Given the description of an element on the screen output the (x, y) to click on. 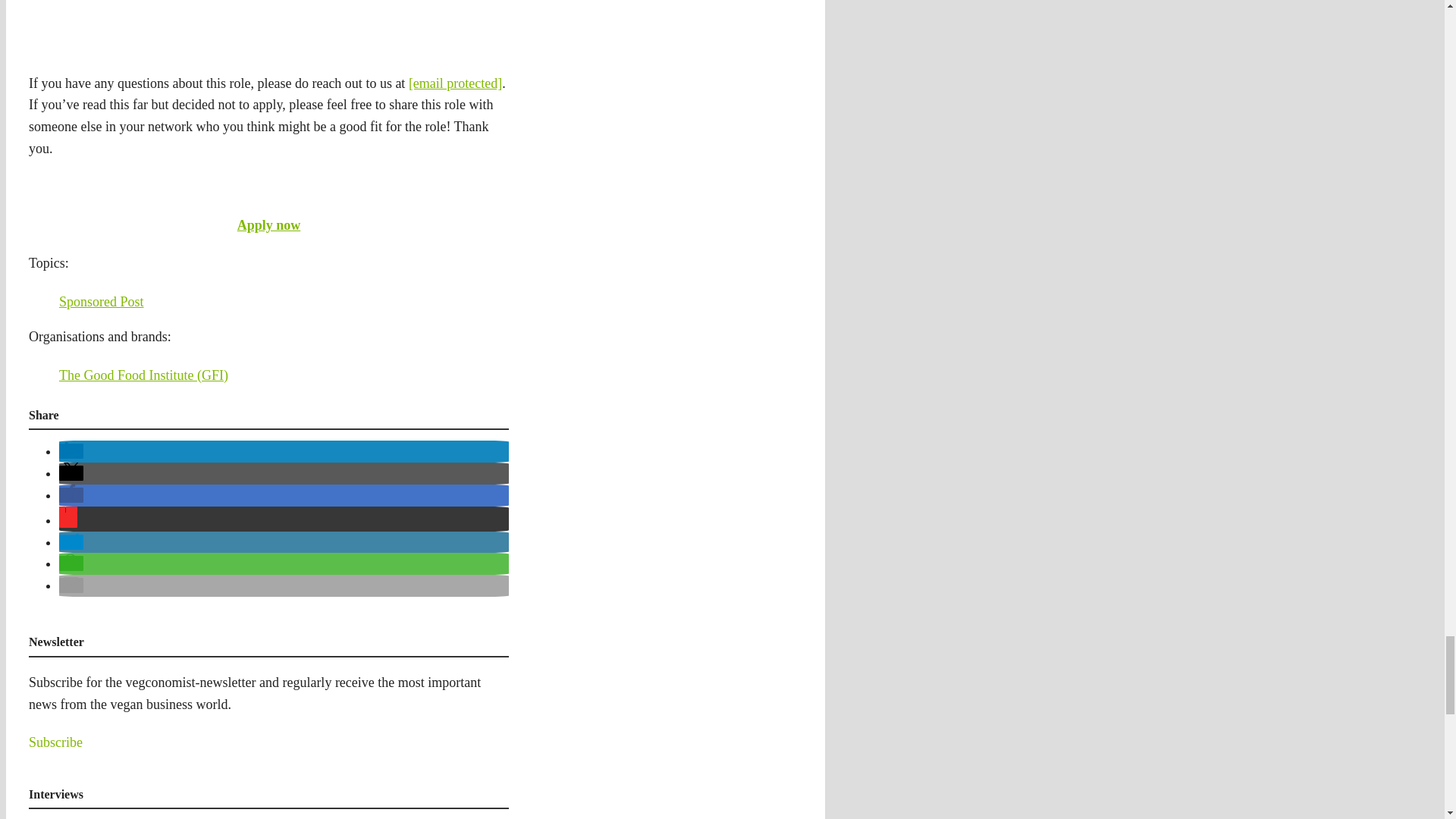
Sponsored Post (101, 301)
Share on Facebook (70, 494)
Share on Flipboard (68, 519)
Share on X (70, 473)
Share on LinkedIn (70, 450)
Share on Whatsapp (70, 563)
Share on Telegram (70, 541)
Send by email (70, 585)
